Given the description of an element on the screen output the (x, y) to click on. 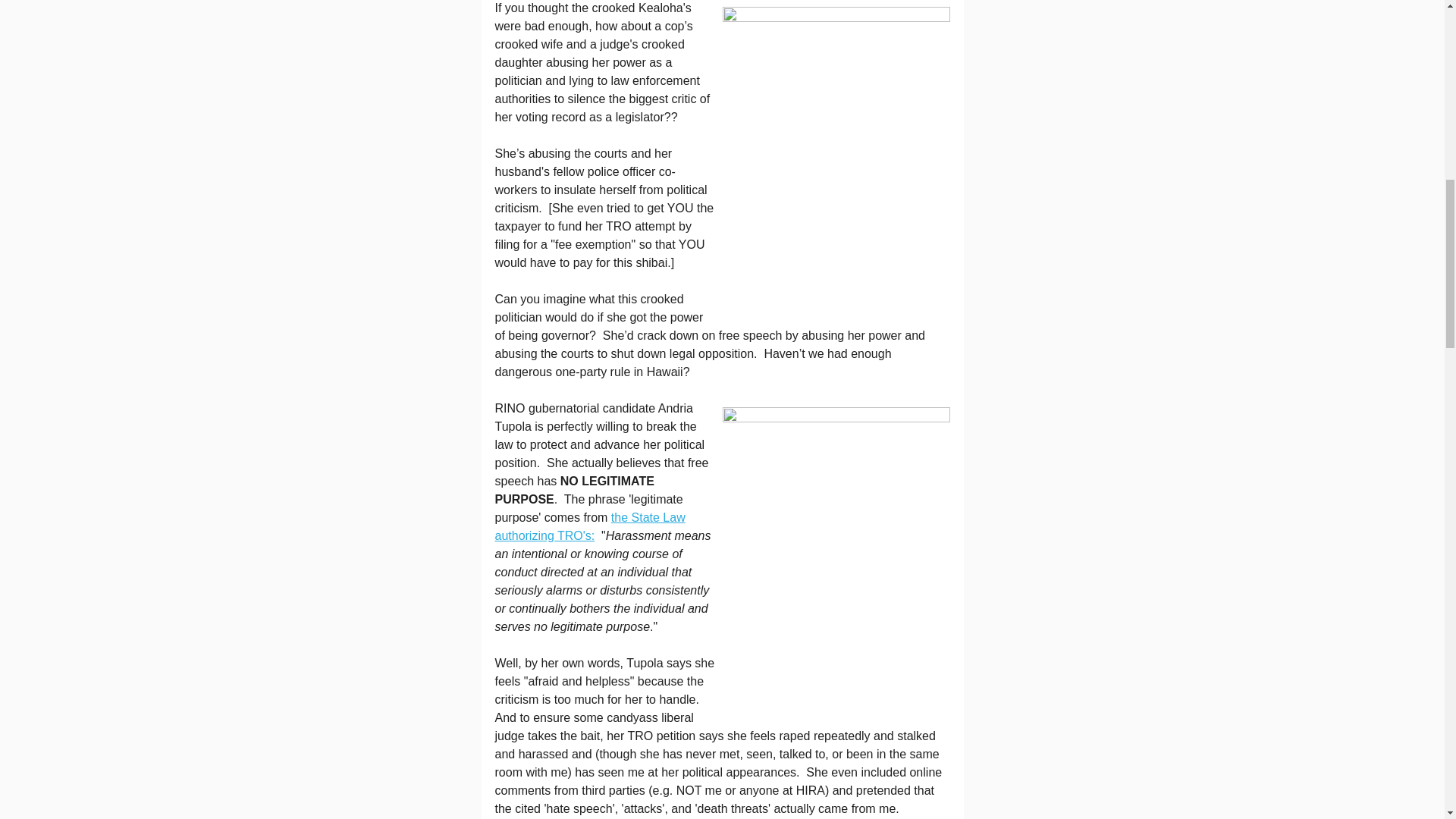
the State Law authorizing TRO's: (589, 526)
